Given the description of an element on the screen output the (x, y) to click on. 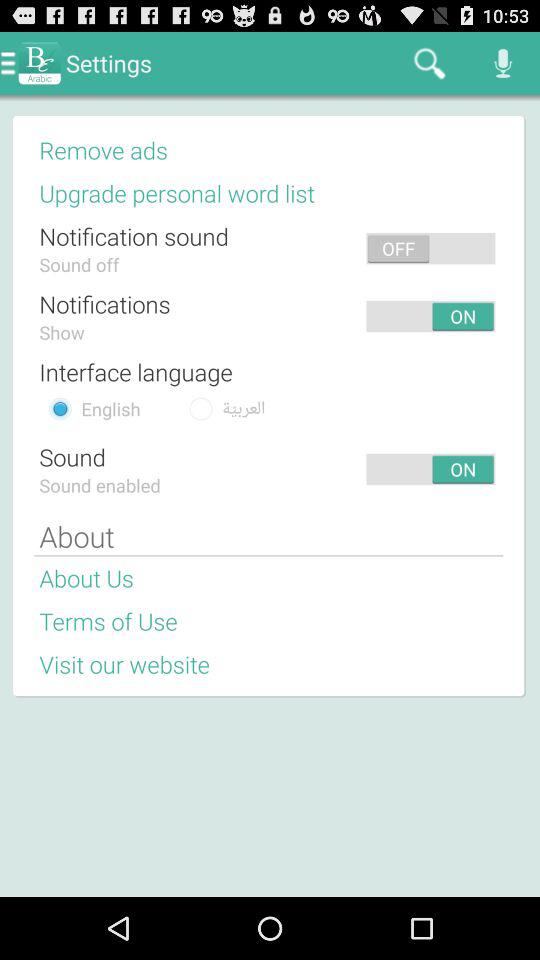
choose the item above visit our website item (108, 621)
